Given the description of an element on the screen output the (x, y) to click on. 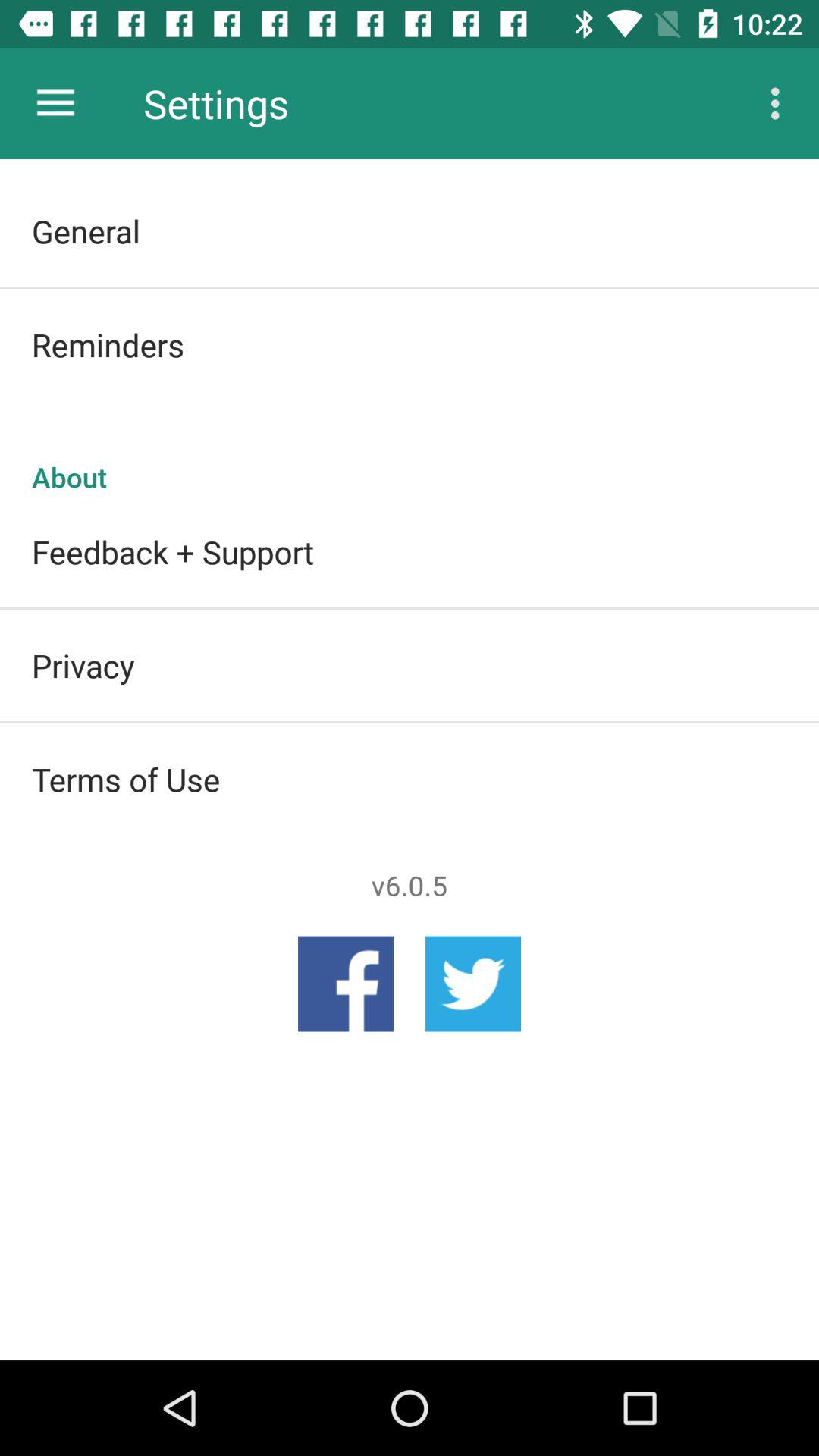
choose icon below the about (409, 551)
